Given the description of an element on the screen output the (x, y) to click on. 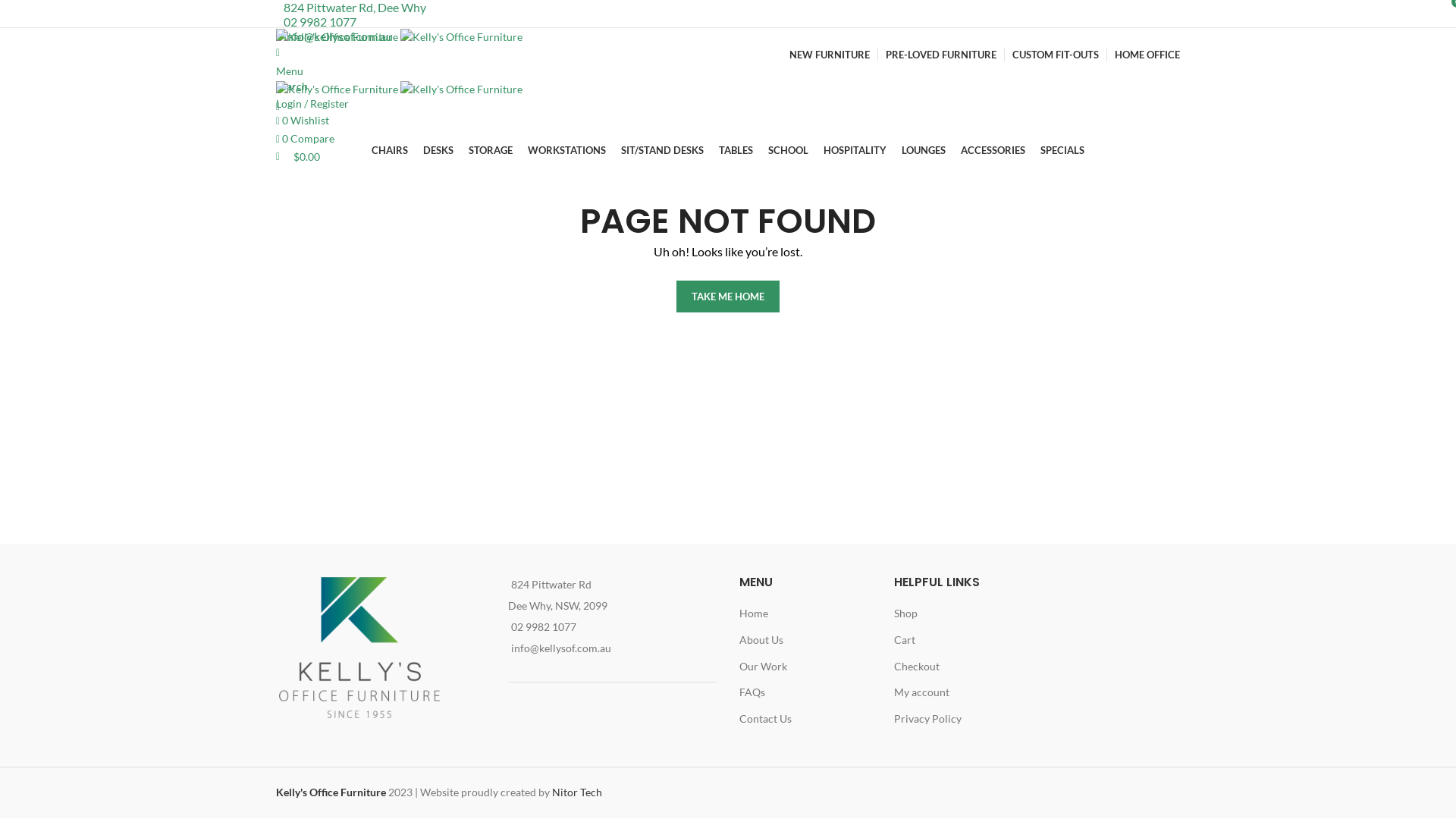
Our Work Element type: text (763, 666)
TABLES Element type: text (735, 150)
SIT/STAND DESKS Element type: text (662, 150)
0 Compare Element type: text (305, 137)
Cart Element type: text (905, 639)
Nitor Tech Element type: text (577, 791)
LOUNGES Element type: text (923, 150)
TAKE ME HOME Element type: text (727, 296)
02 9982 1077 Element type: text (543, 626)
SPECIALS Element type: text (1062, 150)
824 Pittwater Rd, Dee Why Element type: text (354, 7)
824 Pittwater Rd
Dee Why, NSW, 2099 Element type: text (557, 594)
PRE-LOVED FURNITURE Element type: text (940, 55)
02 9982 1077 Element type: text (319, 21)
info@kellysof.com.au Element type: text (337, 35)
0 Wishlist Element type: text (302, 119)
Checkout Element type: text (917, 666)
0 Element type: text (277, 105)
HOSPITALITY Element type: text (854, 150)
0
$0.00 Element type: text (298, 155)
SCHOOL Element type: text (788, 150)
WORKSTATIONS Element type: text (566, 150)
DESKS Element type: text (438, 150)
CHAIRS Element type: text (389, 150)
CUSTOM FIT-OUTS Element type: text (1055, 55)
STORAGE Element type: text (490, 150)
FAQs Element type: text (752, 691)
ACCESSORIES Element type: text (992, 150)
Login / Register Element type: text (312, 103)
About Us Element type: text (761, 639)
info@kellysof.com.au Element type: text (561, 647)
Search Element type: text (727, 69)
Contact Us Element type: text (766, 718)
Shop Element type: text (906, 613)
NEW FURNITURE Element type: text (829, 55)
Privacy Policy Element type: text (928, 718)
My account Element type: text (922, 691)
HOME OFFICE Element type: text (1146, 55)
Kelly's Office Furniture Element type: text (330, 791)
Menu Element type: text (289, 70)
Home Element type: text (754, 613)
